Given the description of an element on the screen output the (x, y) to click on. 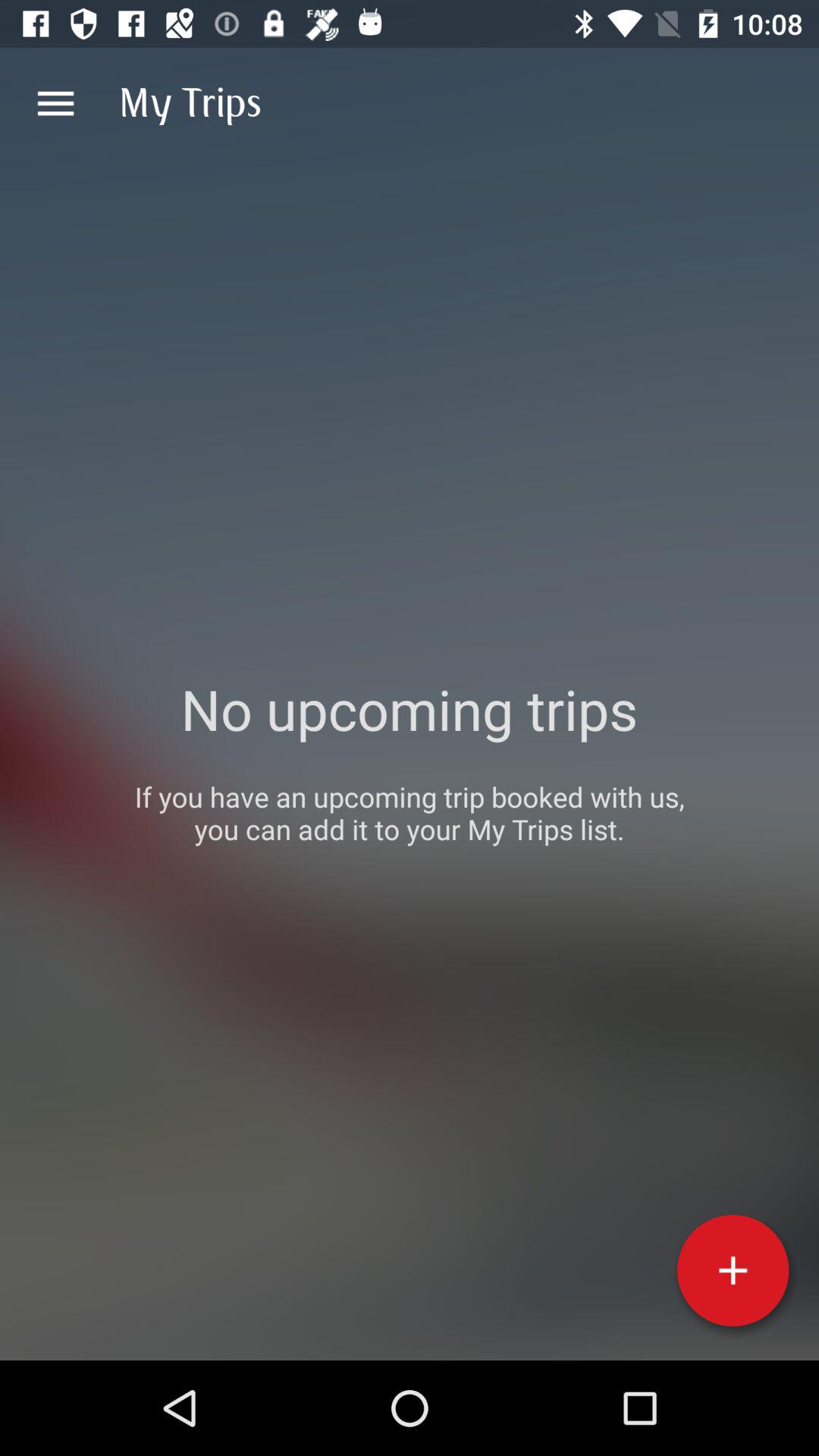
click icon below the if you have (733, 1270)
